Given the description of an element on the screen output the (x, y) to click on. 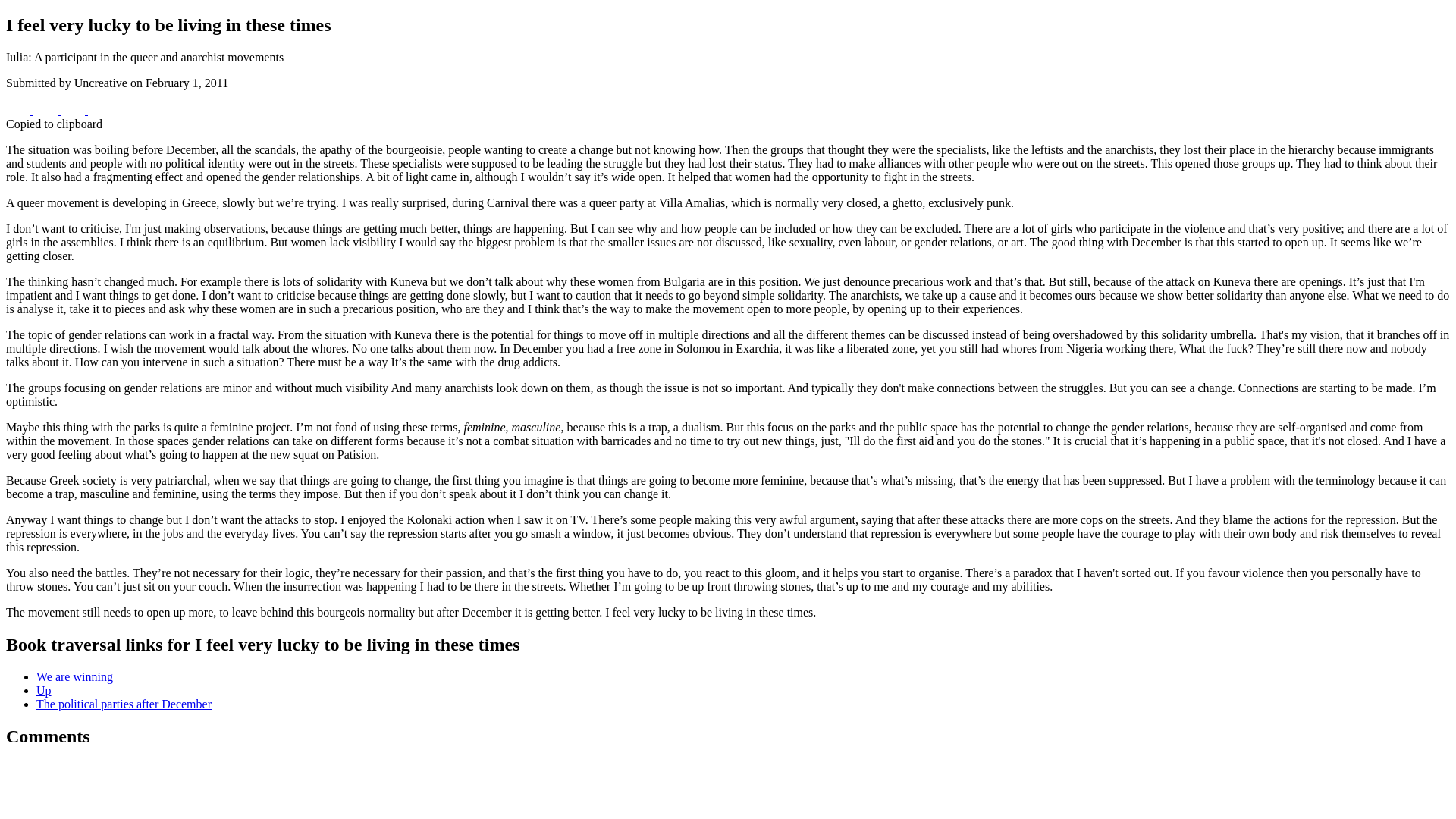
Go to parent page (43, 689)
Share to Twitter (47, 110)
Share to Reddit (74, 110)
Up (43, 689)
Share to Facebook (19, 110)
Go to next page (123, 703)
Go to previous page (74, 676)
The political parties after December (123, 703)
We are winning (74, 676)
